Given the description of an element on the screen output the (x, y) to click on. 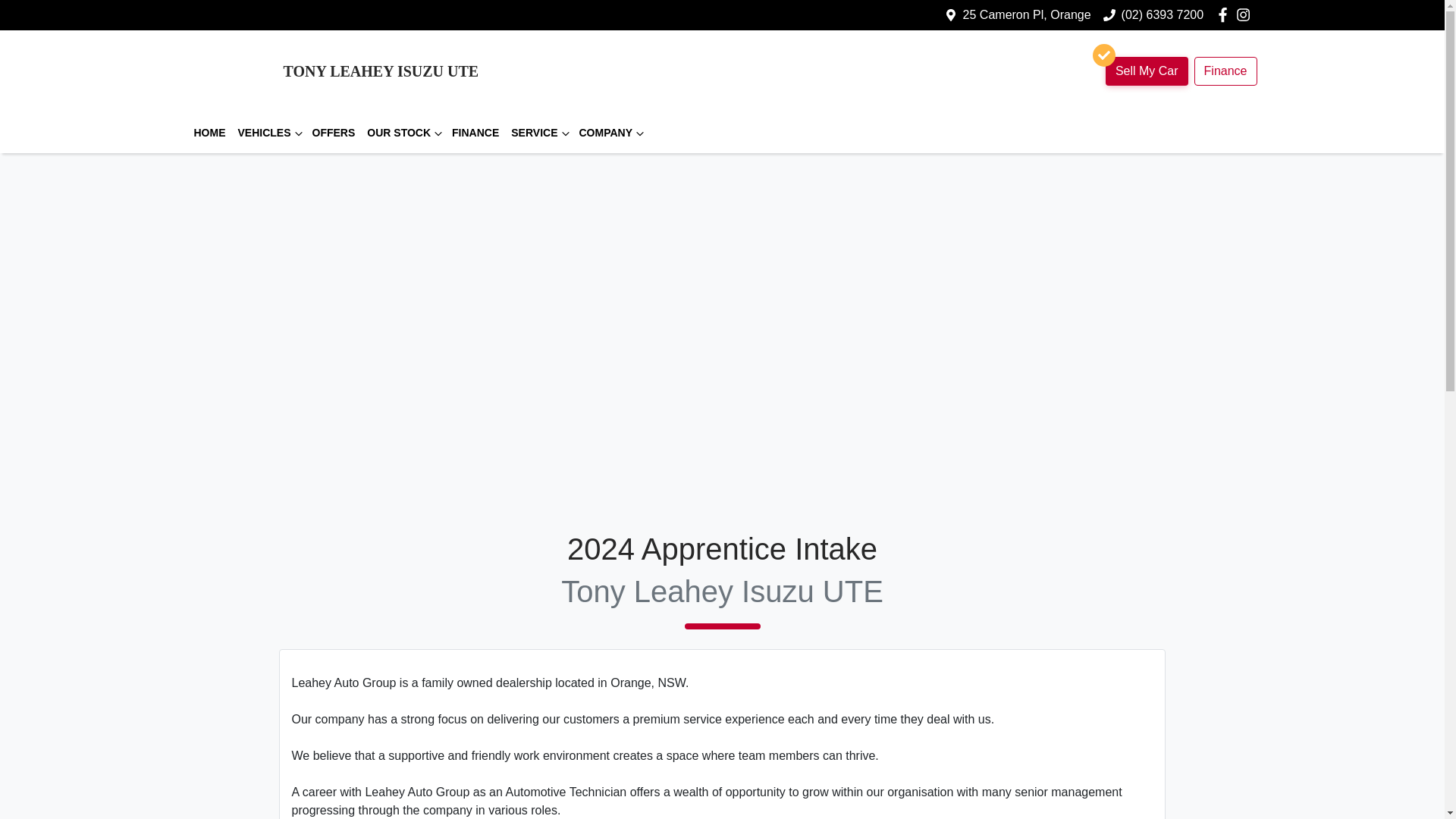
Finance (1225, 70)
OFFERS (333, 132)
OUR STOCK (403, 132)
SERVICE (538, 132)
COMPANY (610, 132)
VEHICLES (268, 132)
FINANCE (475, 132)
HOME (209, 132)
TONY LEAHEY ISUZU UTE (333, 70)
Sell My Car (1146, 70)
